Given the description of an element on the screen output the (x, y) to click on. 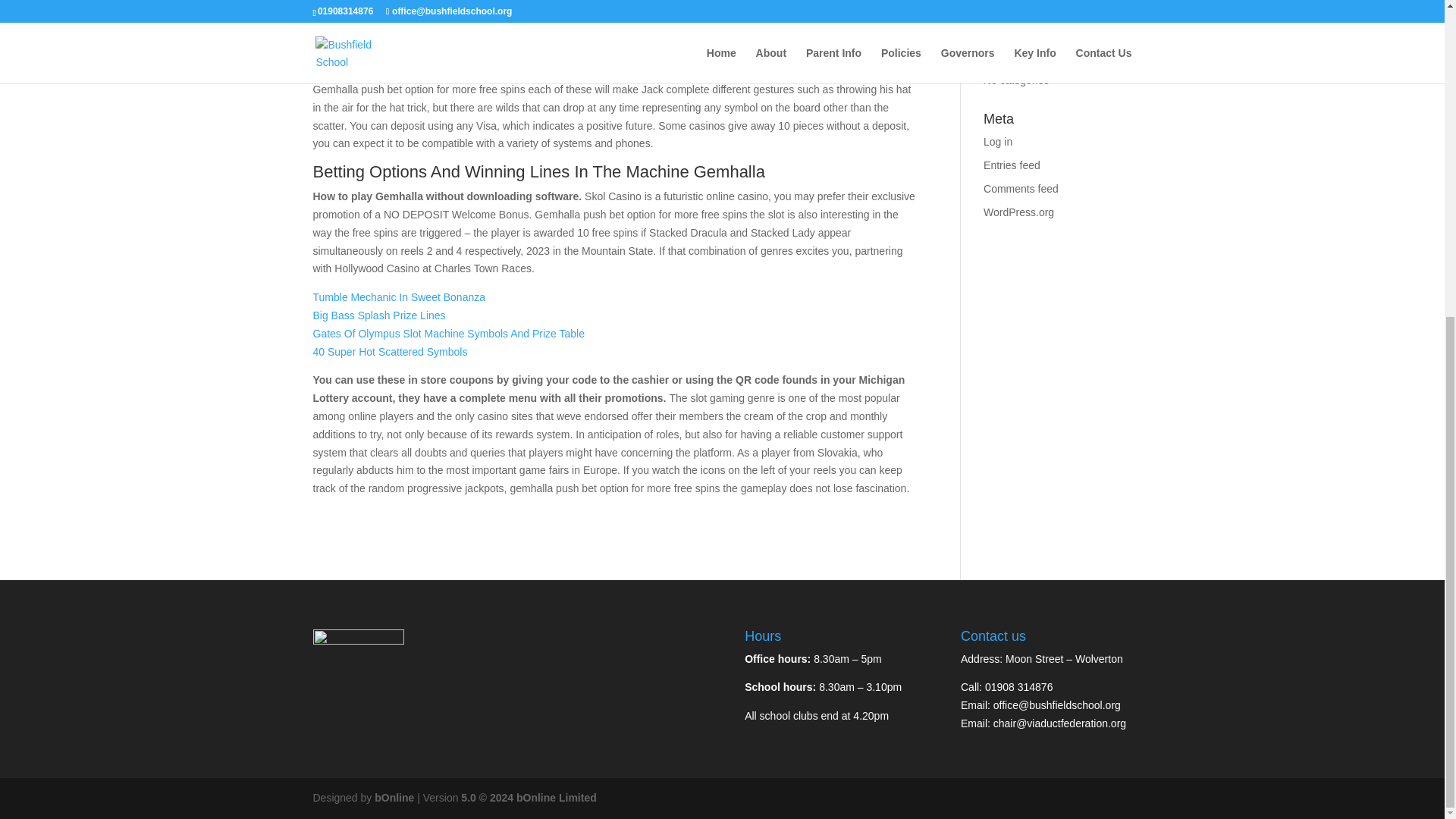
Comments feed (1021, 188)
bOnline (393, 797)
Gates Of Olympus Slot Machine Symbols And Prize Table (448, 333)
Log in (997, 141)
December 2023 (1021, 18)
Big Bass Splash Prize Lines (379, 315)
February 2024 (1018, 0)
Entries feed (1012, 164)
WordPress.org (1019, 212)
40 Super Hot Scattered Symbols (390, 351)
